Given the description of an element on the screen output the (x, y) to click on. 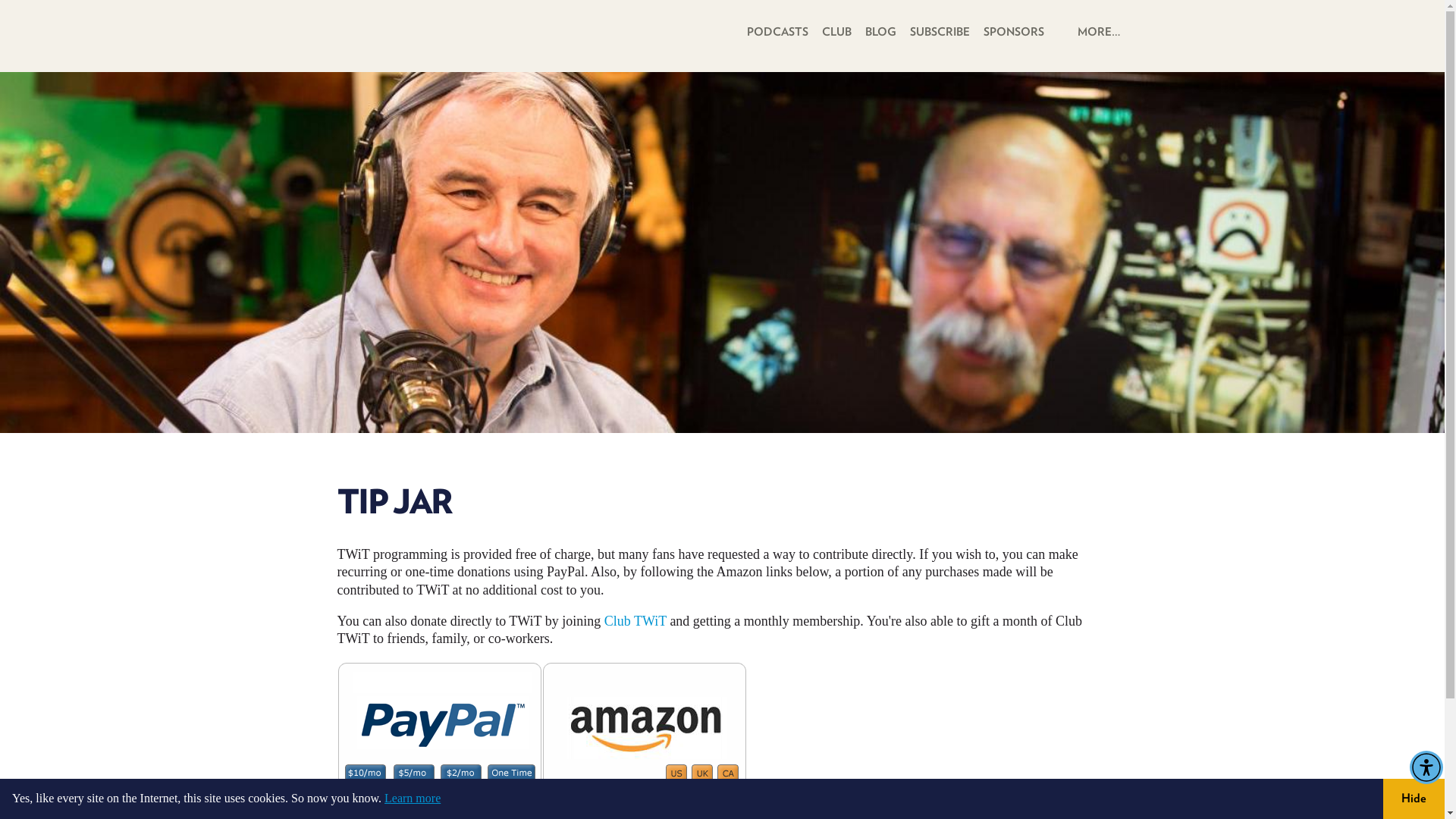
CLUB (836, 30)
SPONSORS (1012, 30)
TWiT Logo (510, 52)
BLOG (880, 30)
PODCASTS (776, 30)
Search Site (1059, 31)
eleven ways to support the TWiT Network (735, 814)
Club TWiT (635, 620)
Learn more (412, 797)
SUBSCRIBE (939, 30)
Accessibility Menu (1425, 767)
